Given the description of an element on the screen output the (x, y) to click on. 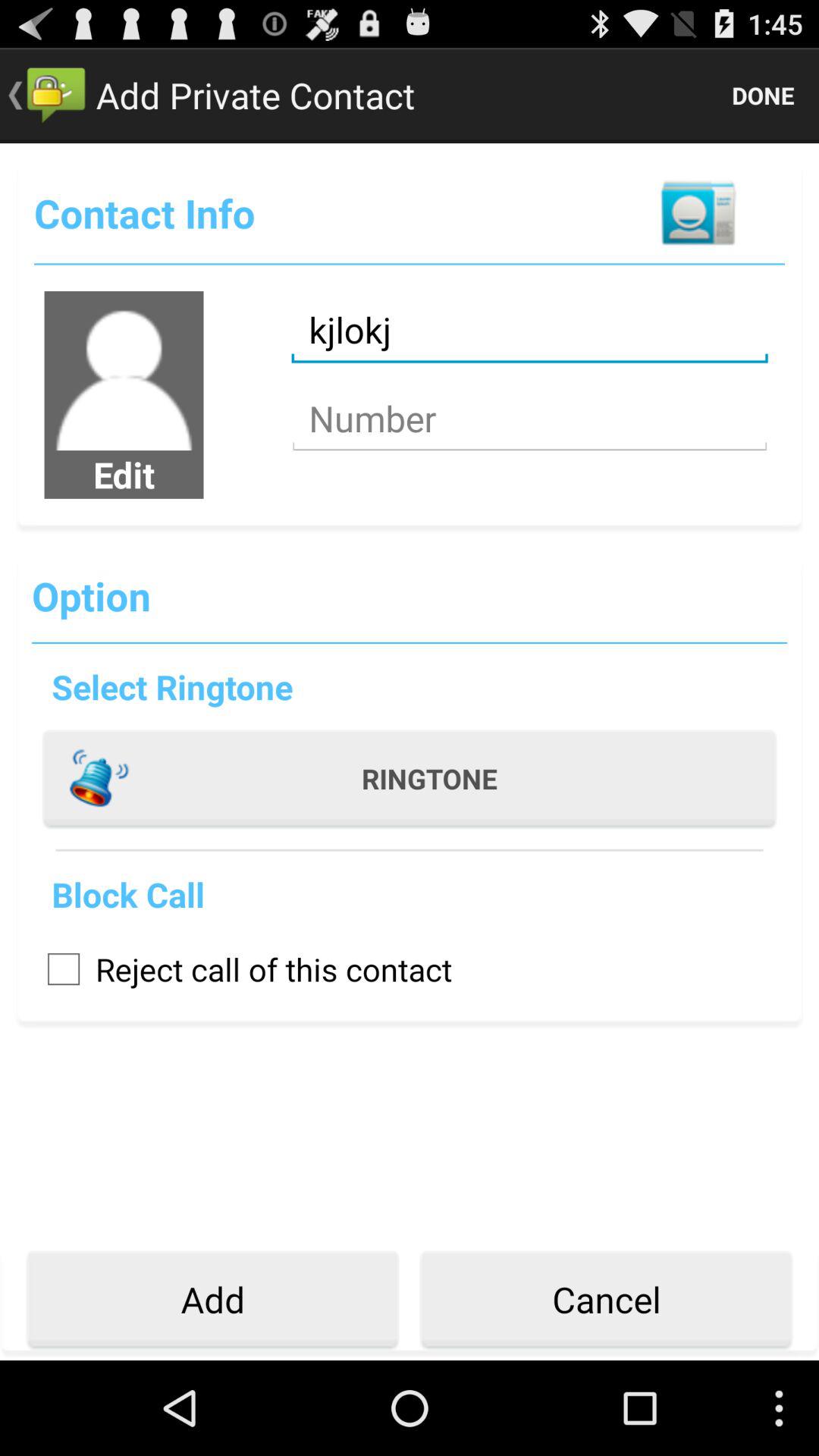
tap the icon above add icon (241, 969)
